Given the description of an element on the screen output the (x, y) to click on. 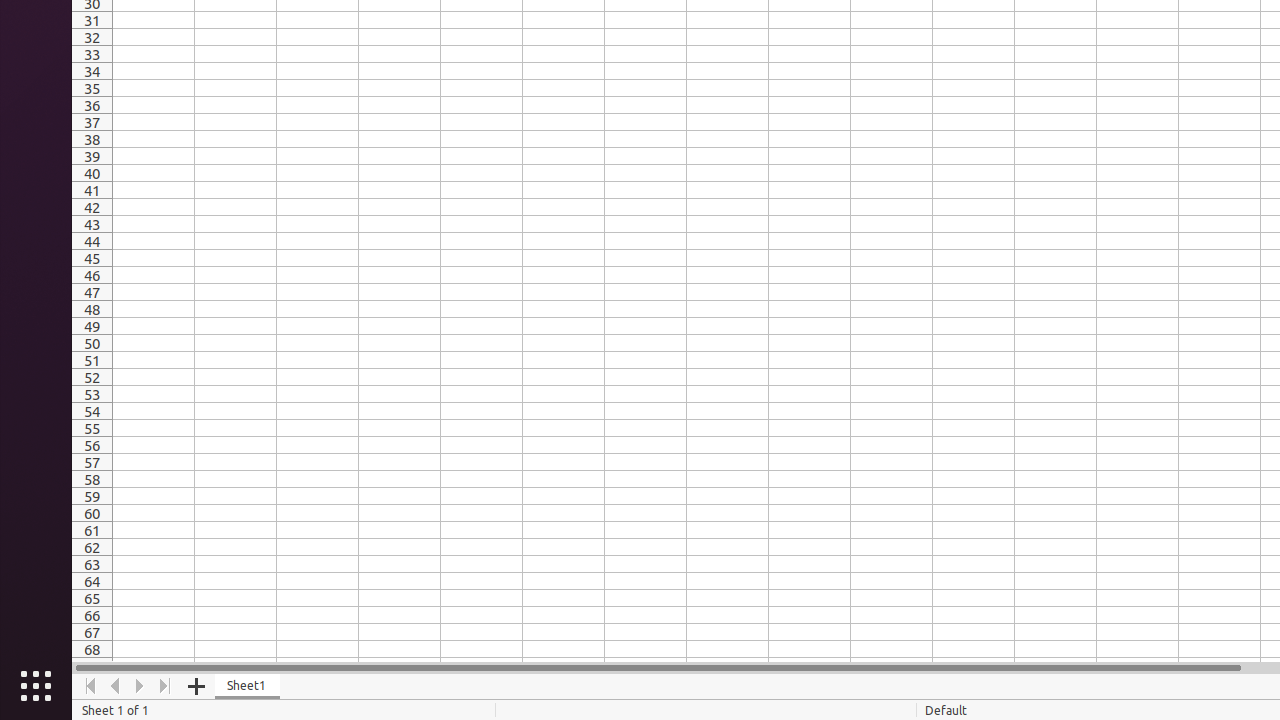
Sheet1 Element type: page-tab (247, 686)
